Given the description of an element on the screen output the (x, y) to click on. 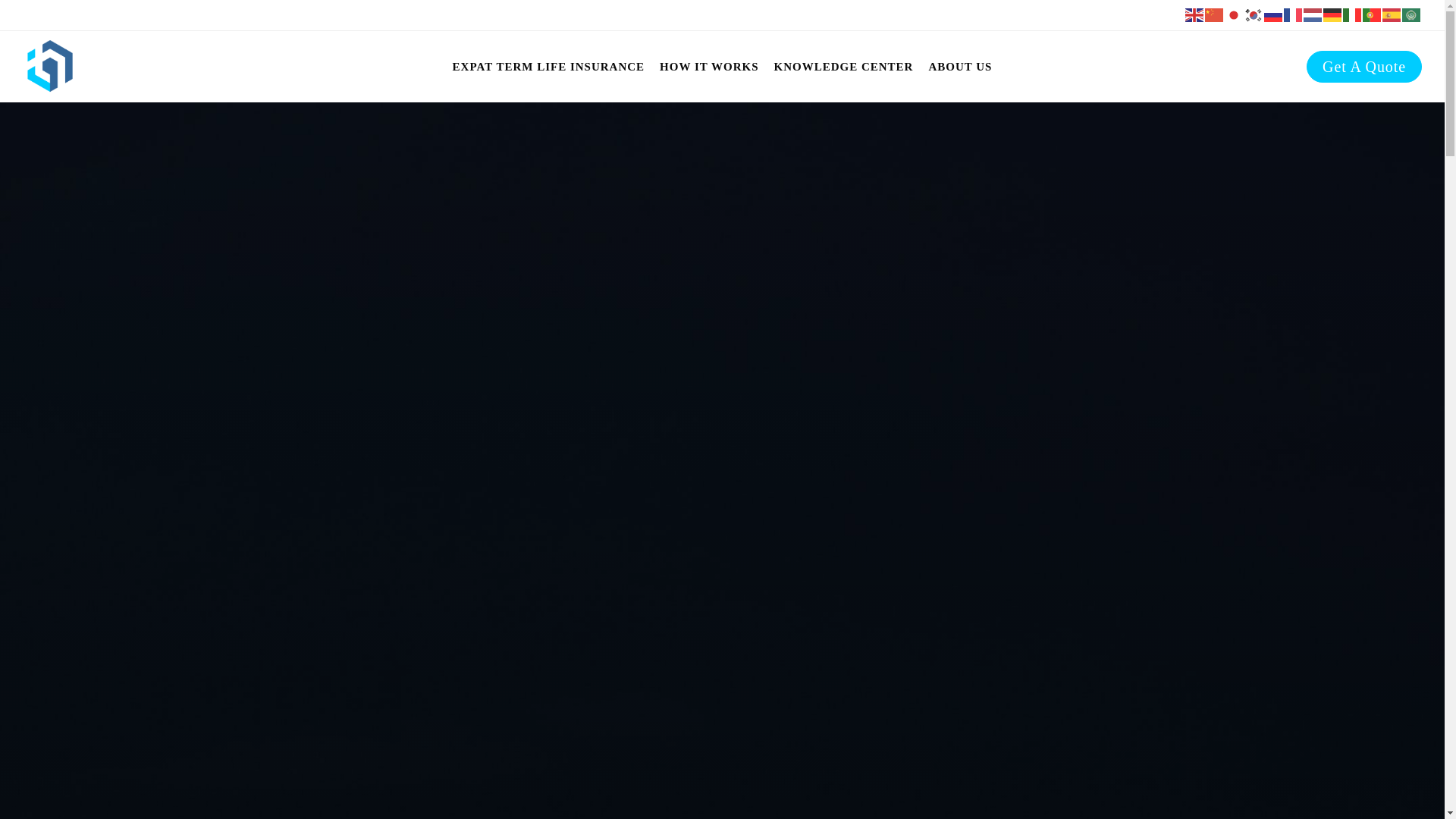
ABOUT US (959, 66)
Get A Quote (1364, 66)
Korean (1253, 15)
Japanese (1234, 15)
English (1195, 15)
Italian (1352, 15)
EXPAT TERM LIFE INSURANCE (548, 66)
German (1332, 15)
Russian (1273, 15)
Spanish (1391, 15)
French (1293, 15)
Portuguese (1371, 15)
Arabic (1412, 15)
HOW IT WORKS (708, 66)
